Given the description of an element on the screen output the (x, y) to click on. 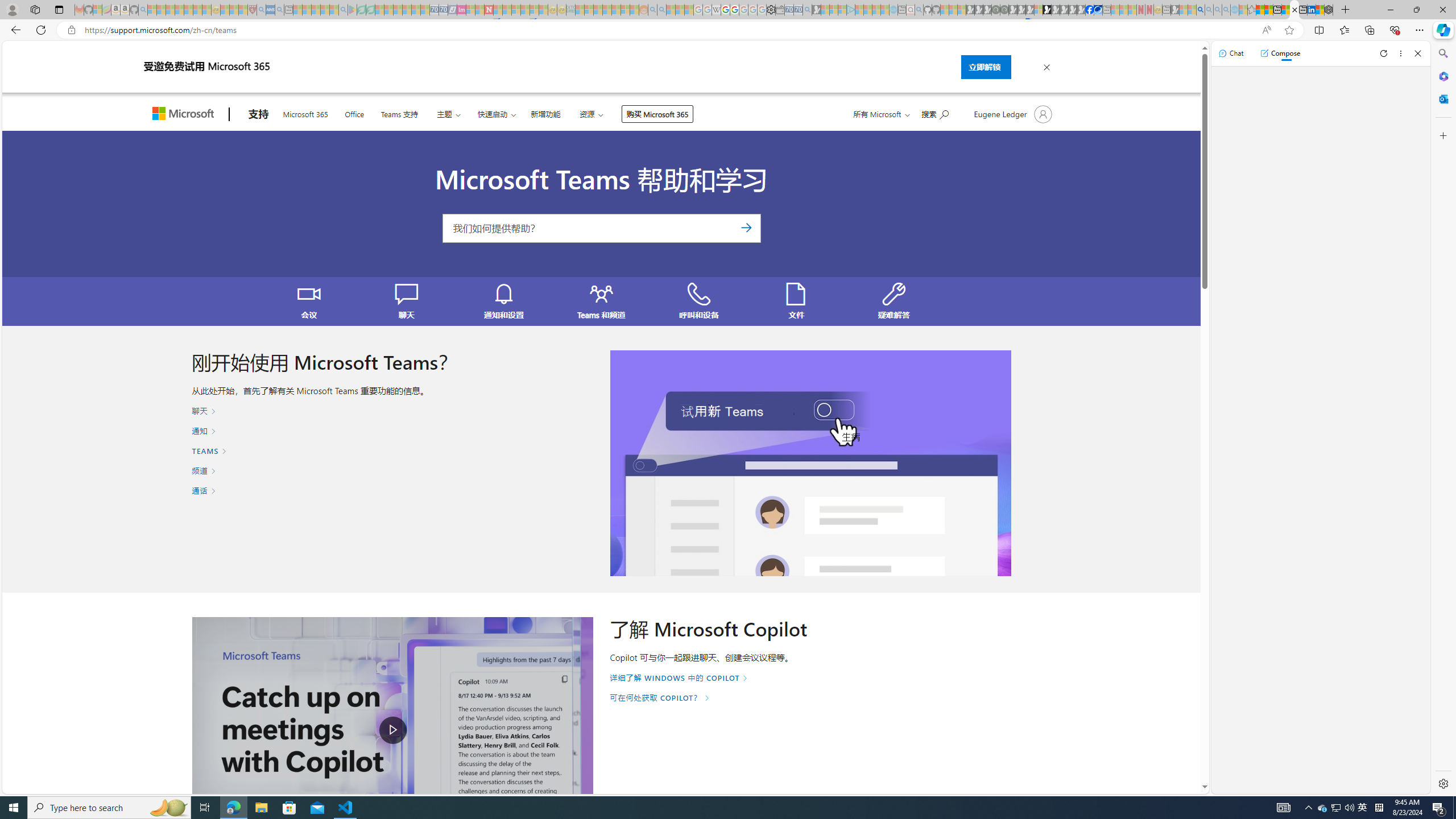
Office (354, 112)
Compose (1279, 52)
